Given the description of an element on the screen output the (x, y) to click on. 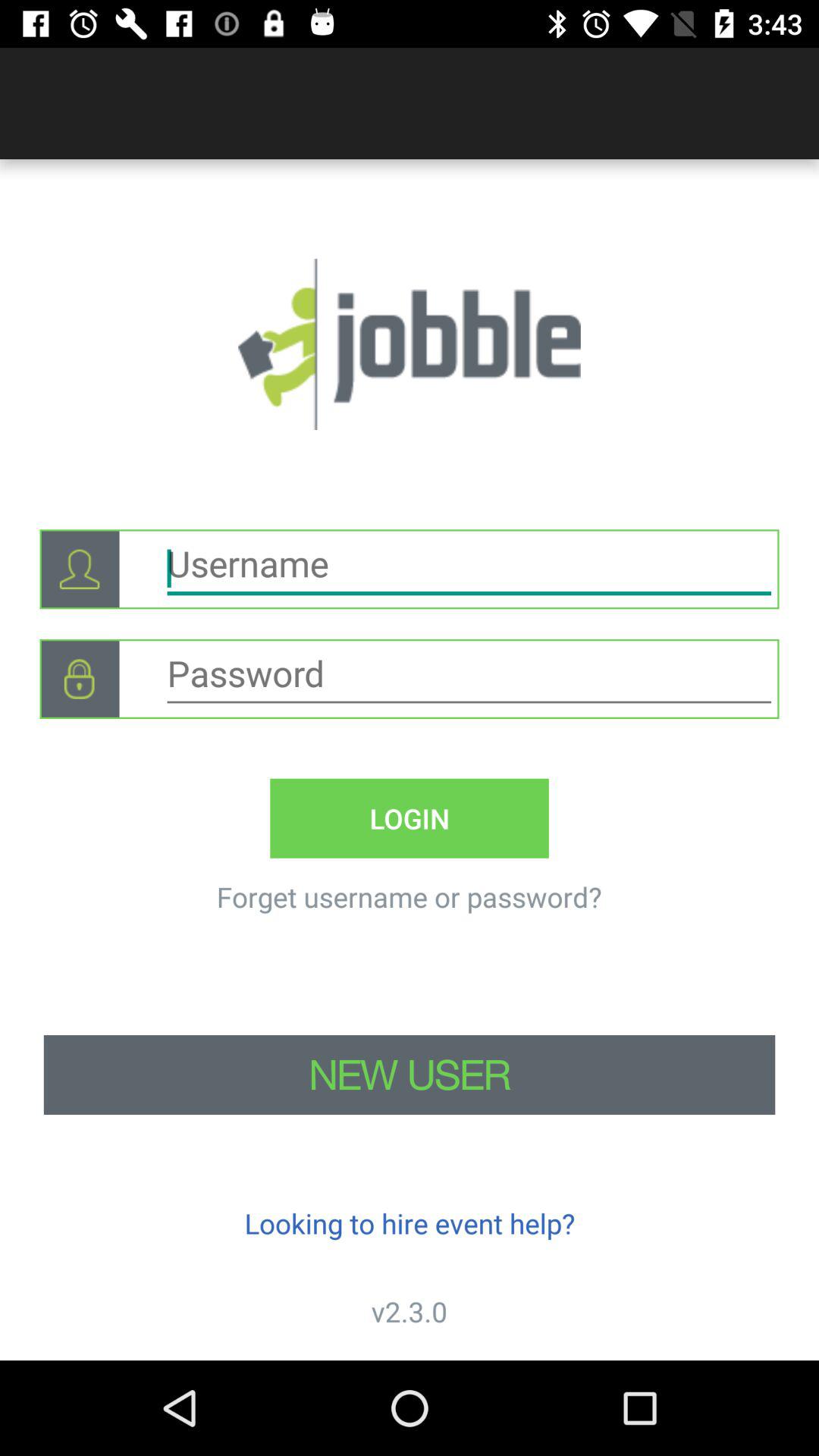
turn on the item above new user item (79, 678)
